Given the description of an element on the screen output the (x, y) to click on. 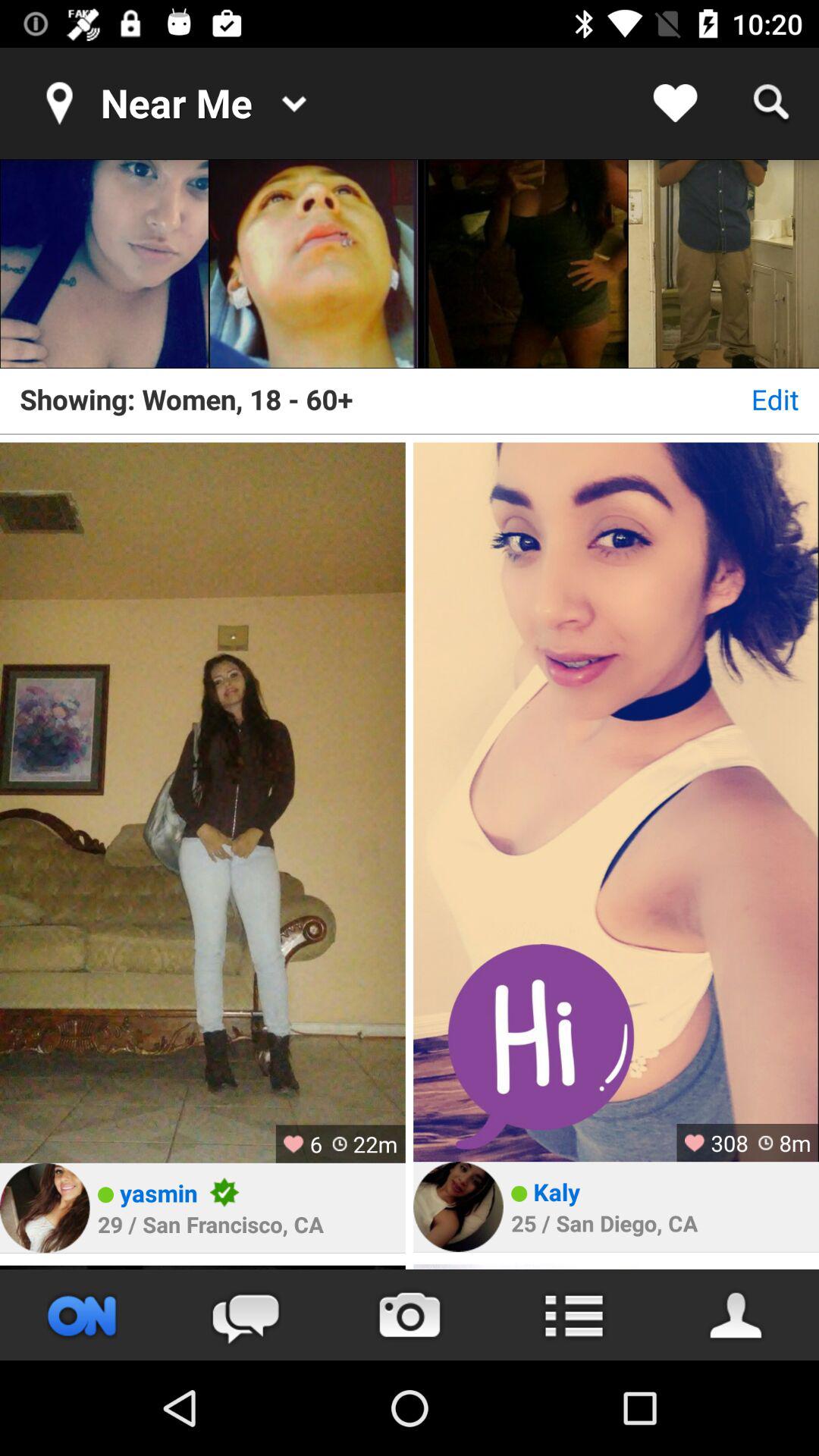
open yasmin profile (44, 1207)
